Given the description of an element on the screen output the (x, y) to click on. 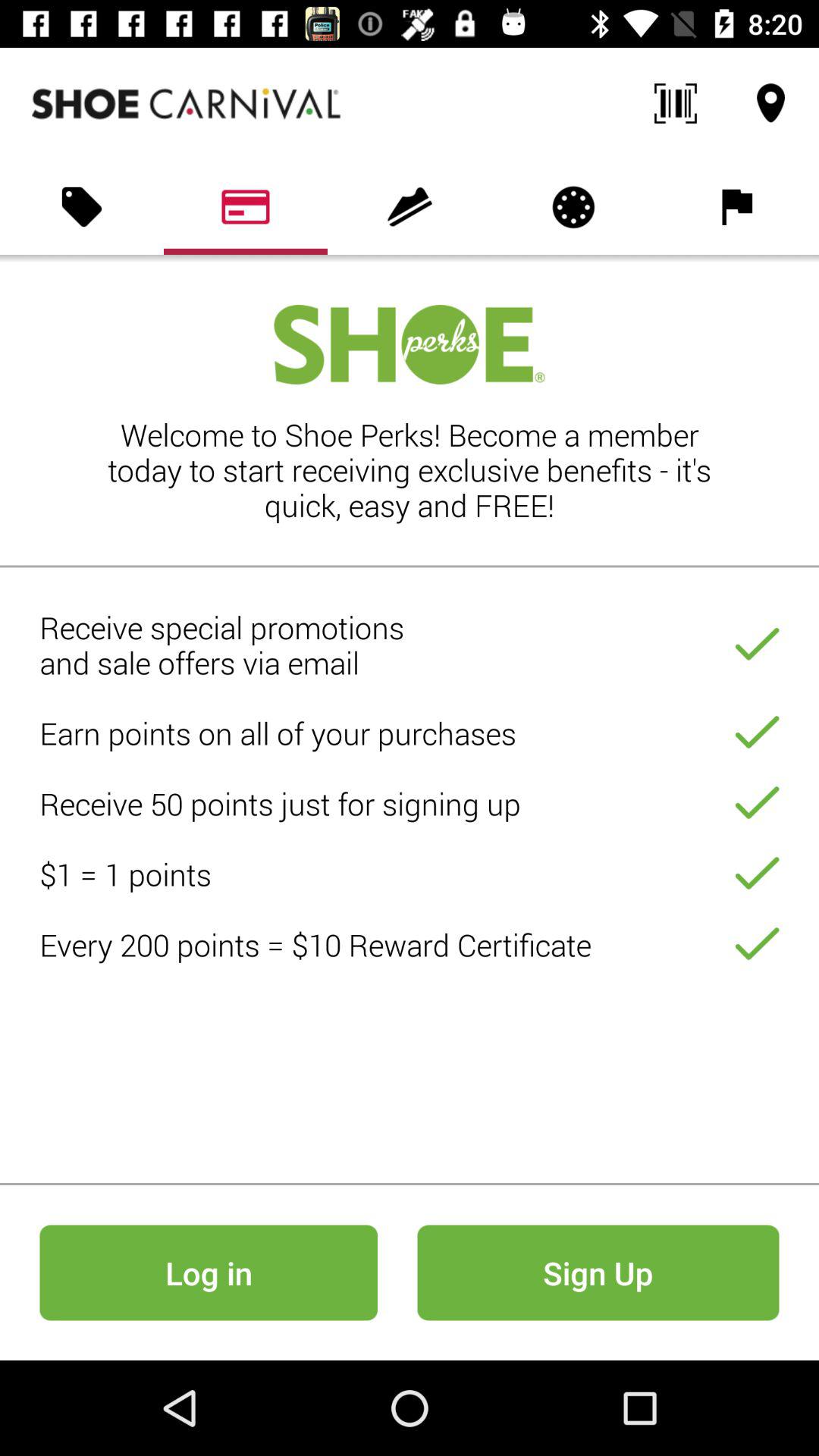
turn off the sign up item (598, 1272)
